Given the description of an element on the screen output the (x, y) to click on. 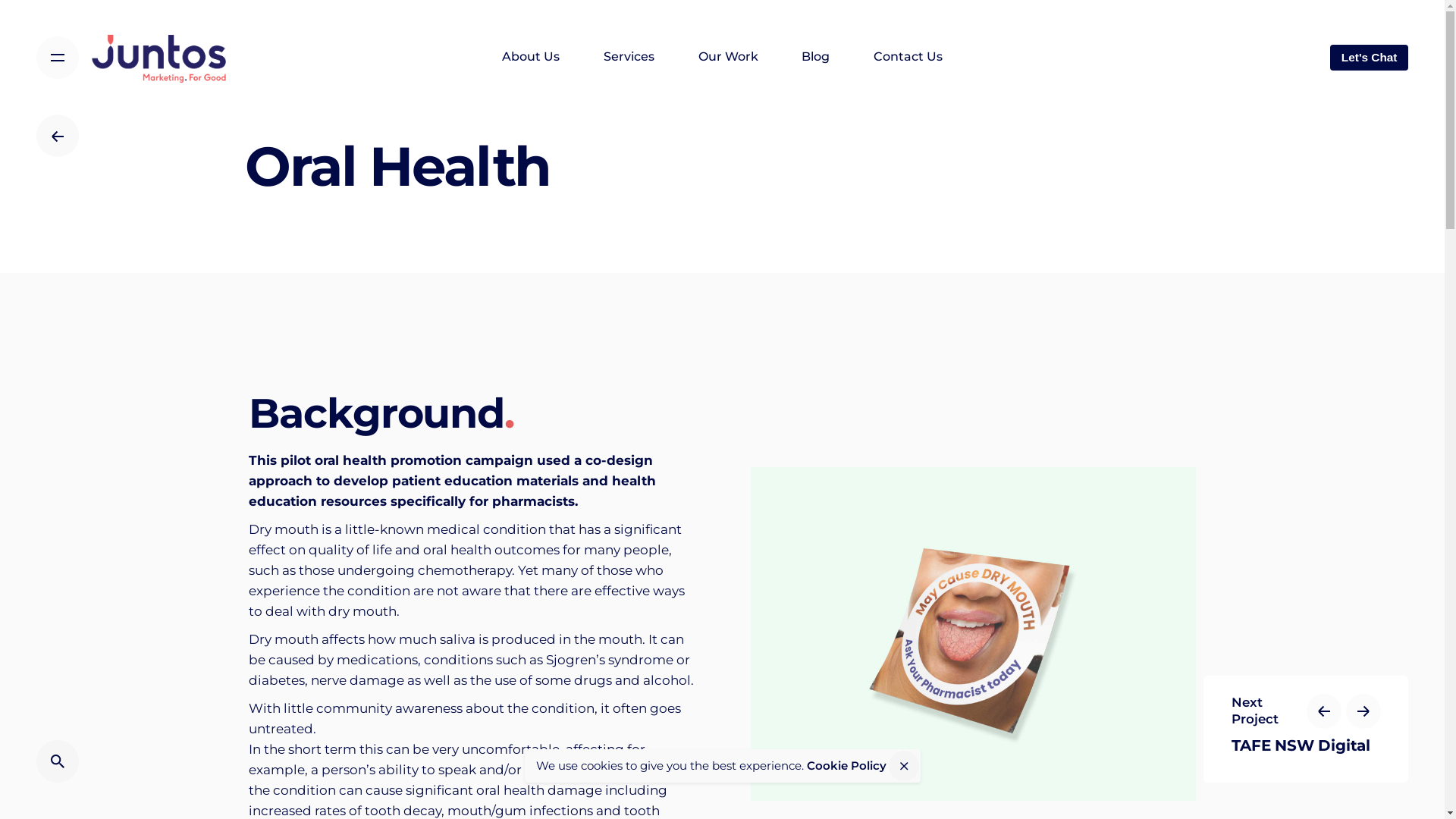
TAFE NSW Digital Element type: text (1305, 745)
Contact Us Element type: text (907, 56)
Cookie Policy Element type: text (846, 765)
About Us Element type: text (531, 56)
Let's Chat Element type: text (1369, 57)
Blog Element type: text (815, 56)
Our Work Element type: text (728, 56)
Services Element type: text (628, 56)
